Given the description of an element on the screen output the (x, y) to click on. 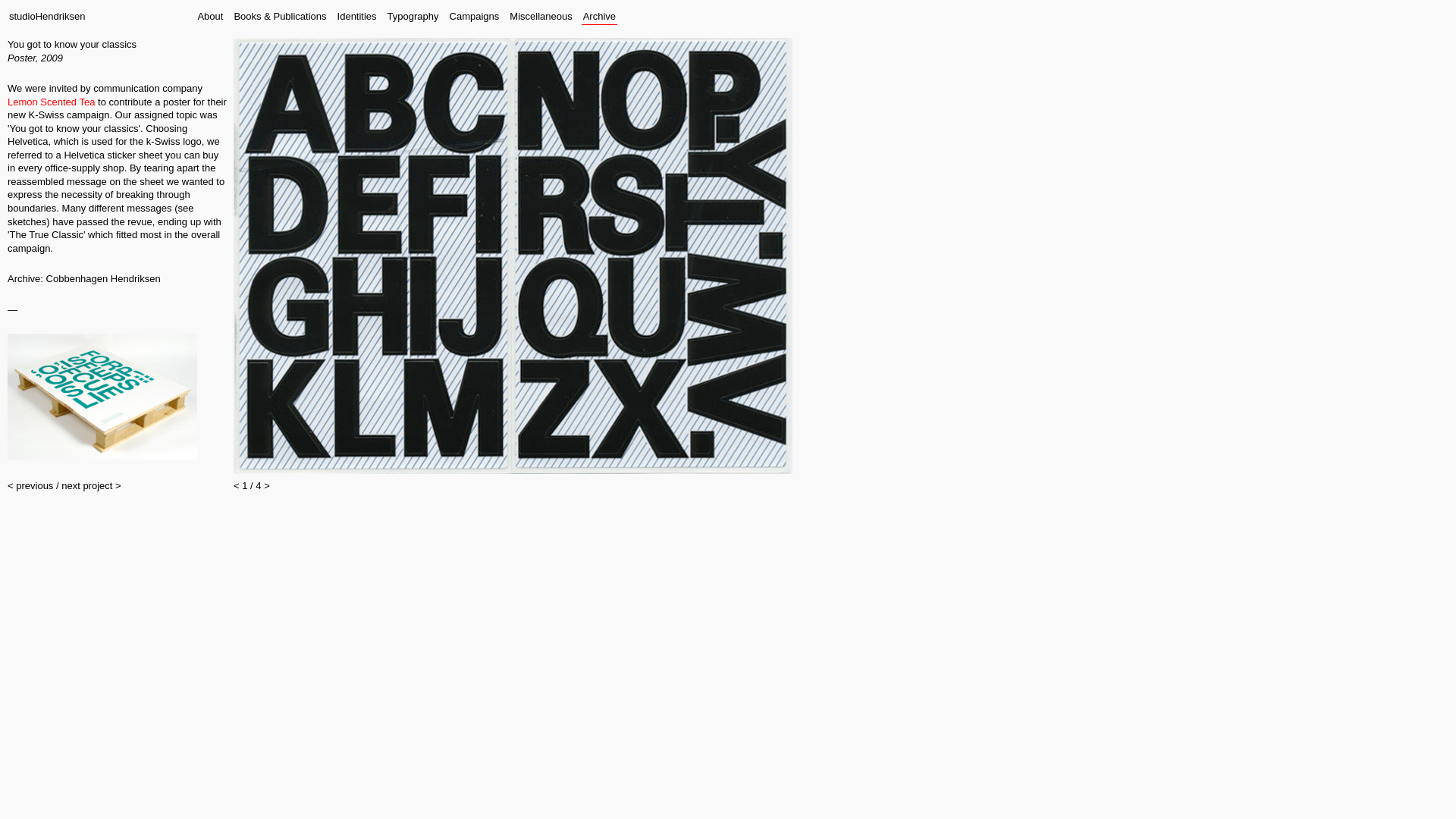
Identities (357, 16)
Typography (413, 16)
About (209, 16)
Campaigns (474, 16)
studioHendriksen (46, 16)
